Given the description of an element on the screen output the (x, y) to click on. 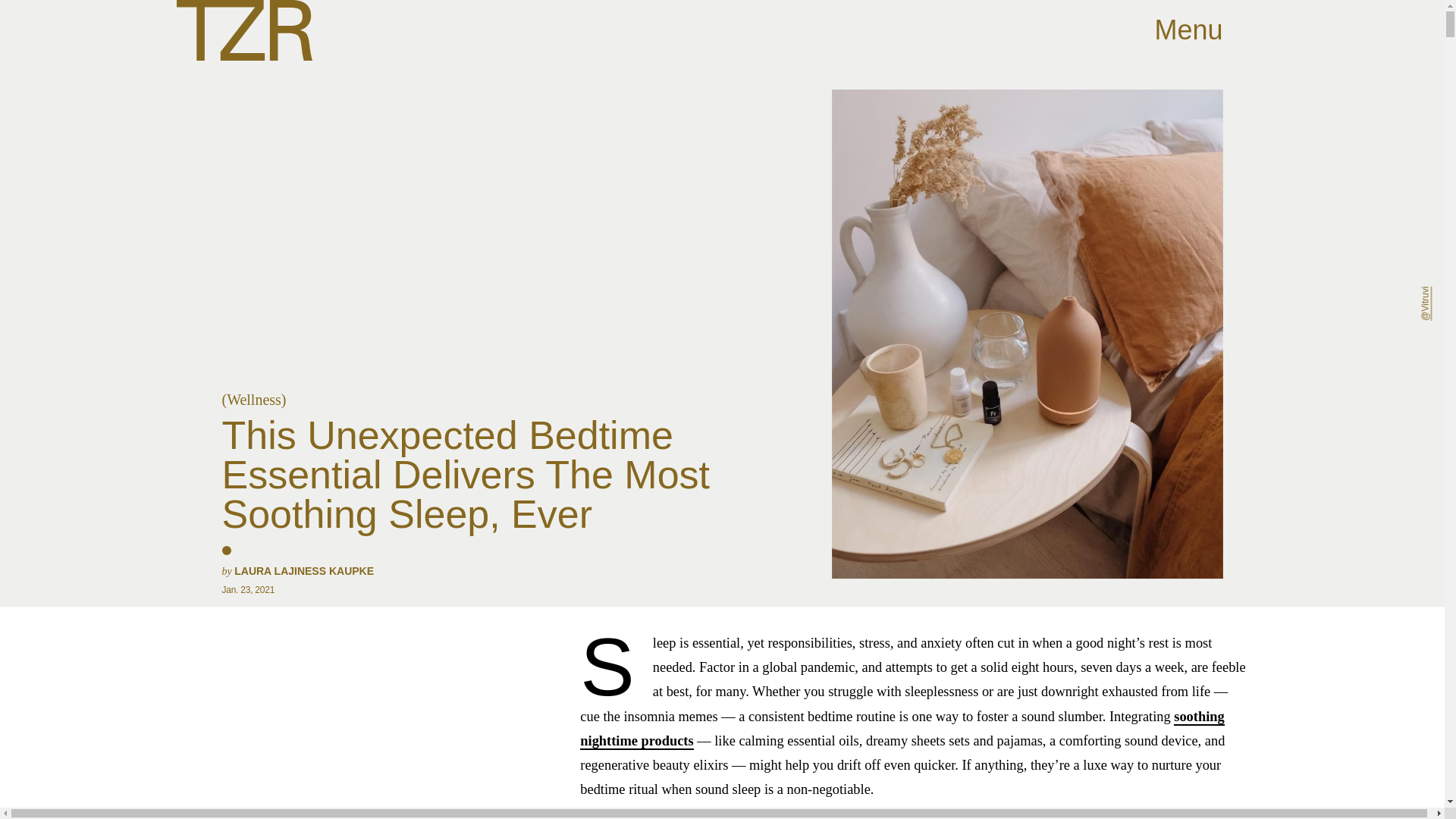
The Zoe Report (243, 30)
soothing nighttime products (901, 729)
LAURA LAJINESS KAUPKE (304, 571)
